Given the description of an element on the screen output the (x, y) to click on. 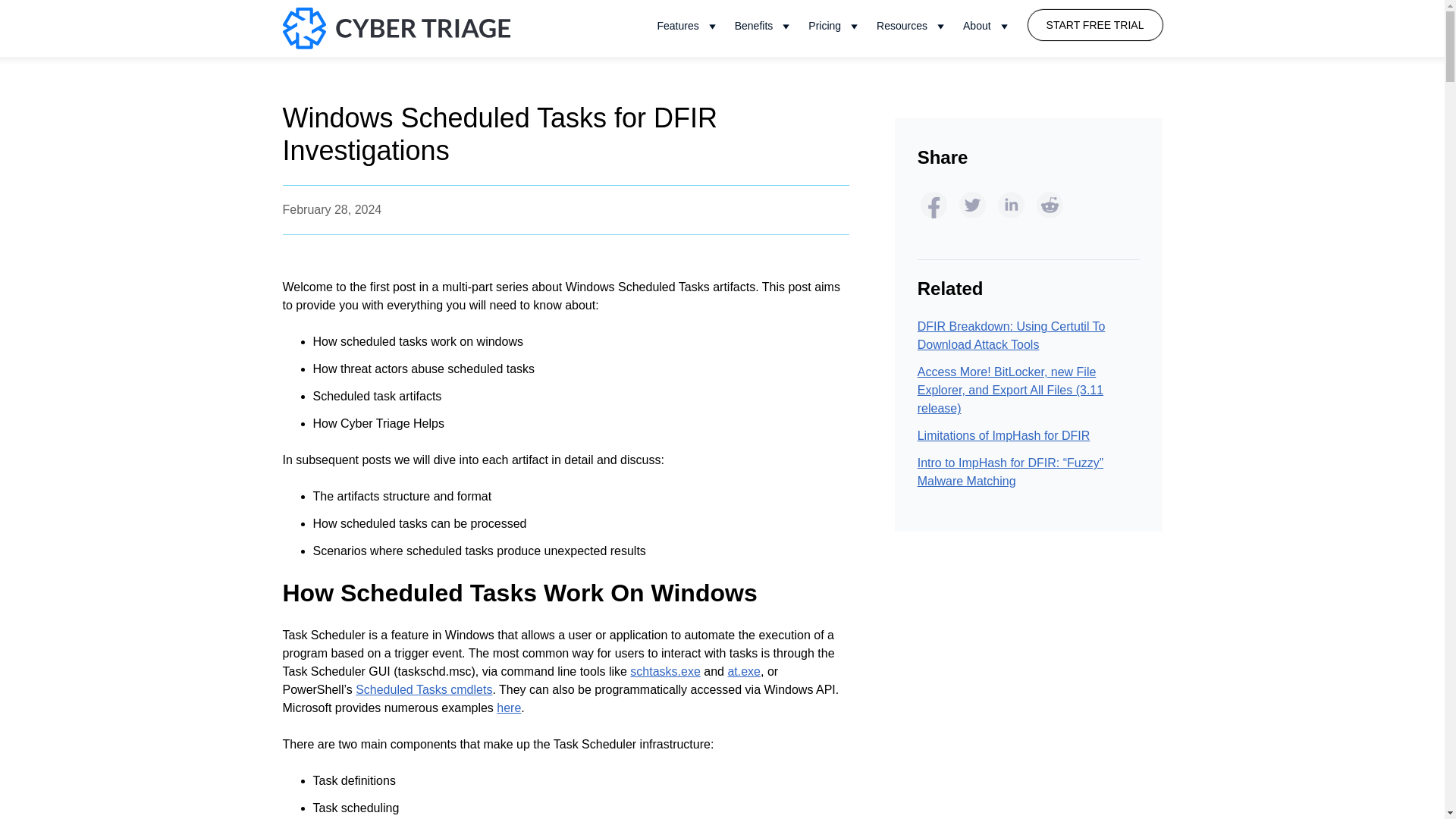
Resources (912, 28)
Features (687, 28)
Pricing (834, 28)
Benefits (764, 28)
